Given the description of an element on the screen output the (x, y) to click on. 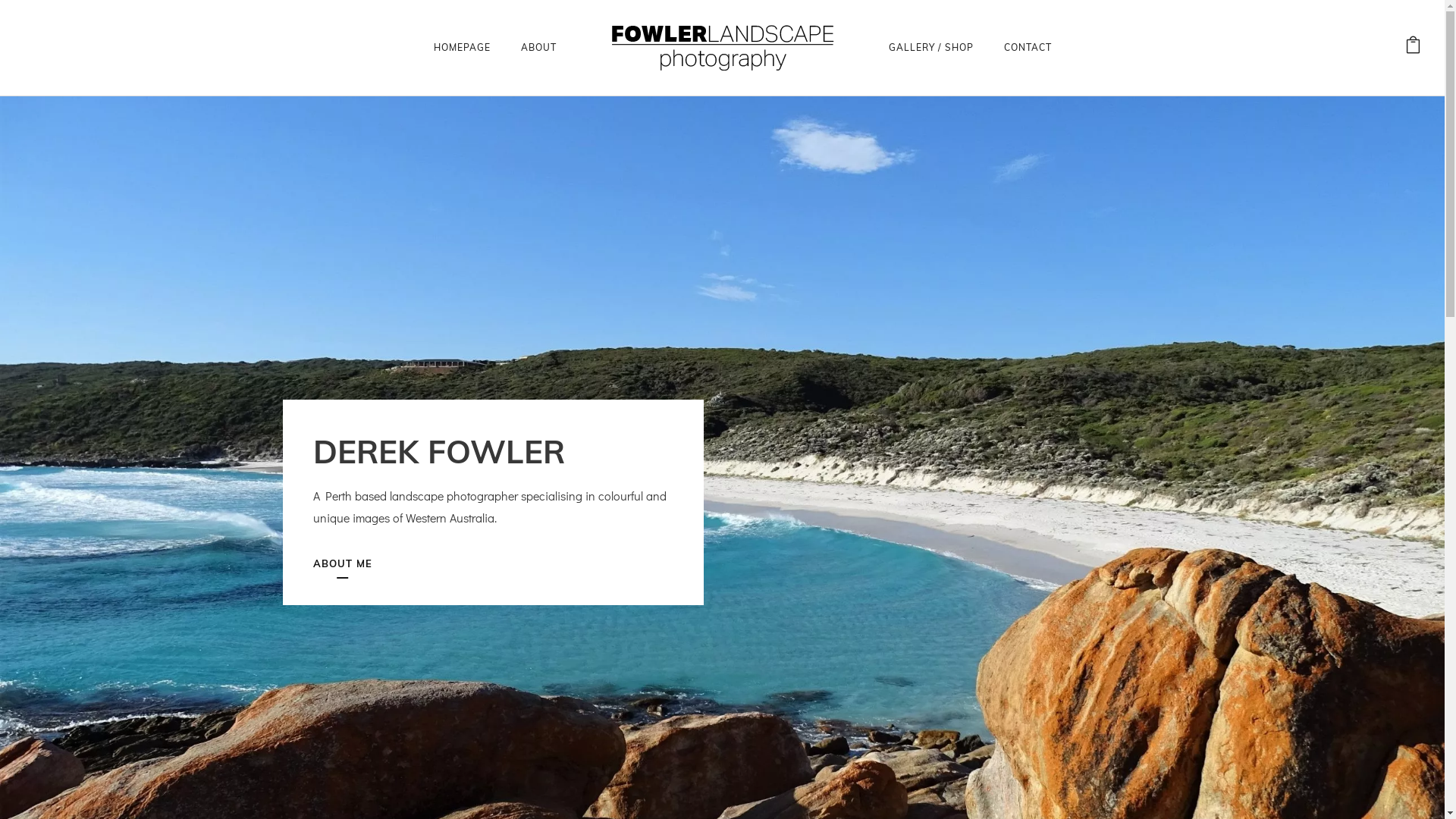
ABOUT Element type: text (538, 47)
ABOUT ME Element type: text (341, 563)
View your shopping cart Element type: hover (1412, 47)
GALLERY / SHOP Element type: text (930, 47)
CONTACT Element type: text (1027, 47)
HOMEPAGE Element type: text (461, 47)
